Given the description of an element on the screen output the (x, y) to click on. 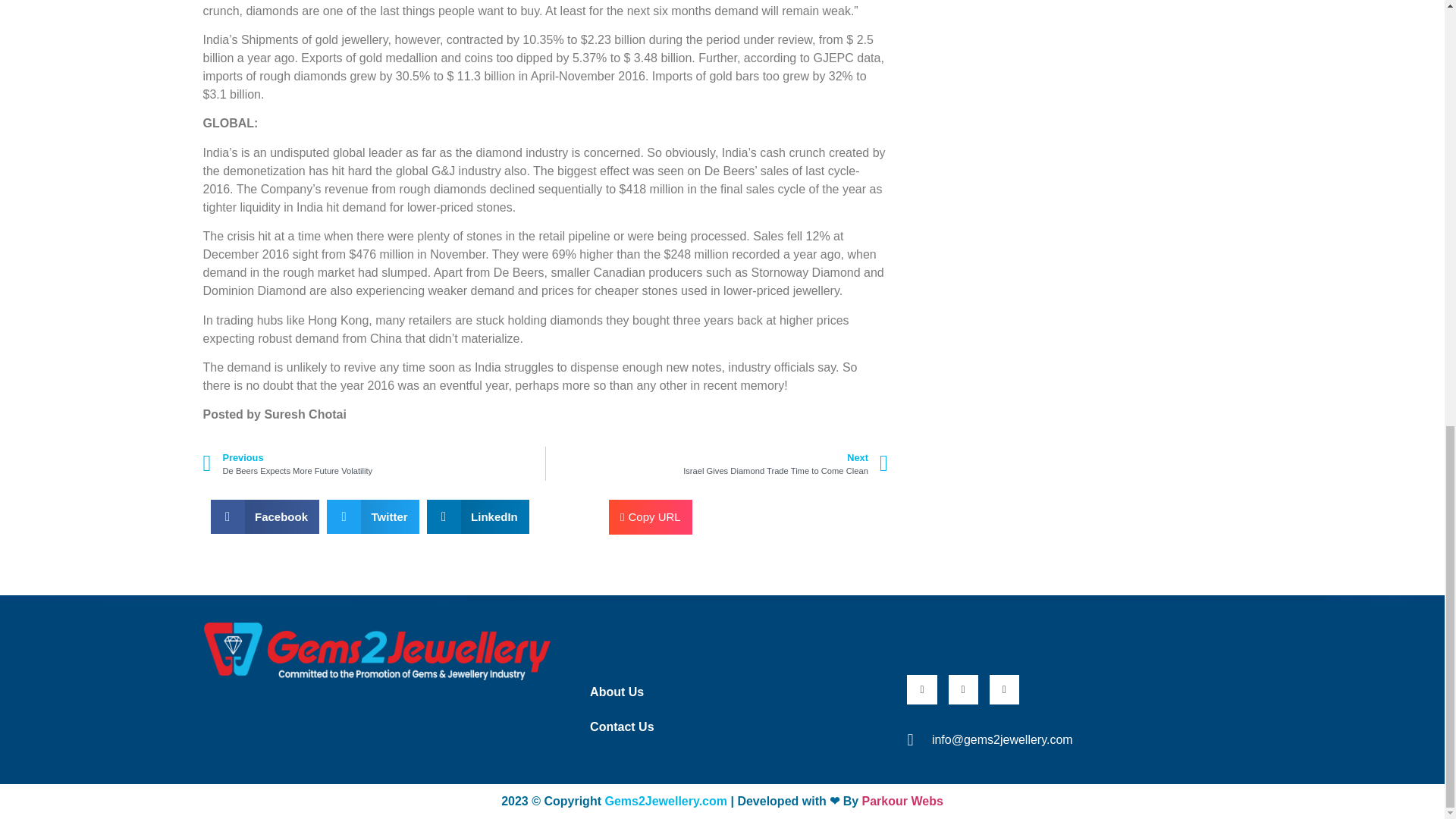
Copy URL (373, 463)
About Us (717, 463)
Contact Us (650, 516)
